Given the description of an element on the screen output the (x, y) to click on. 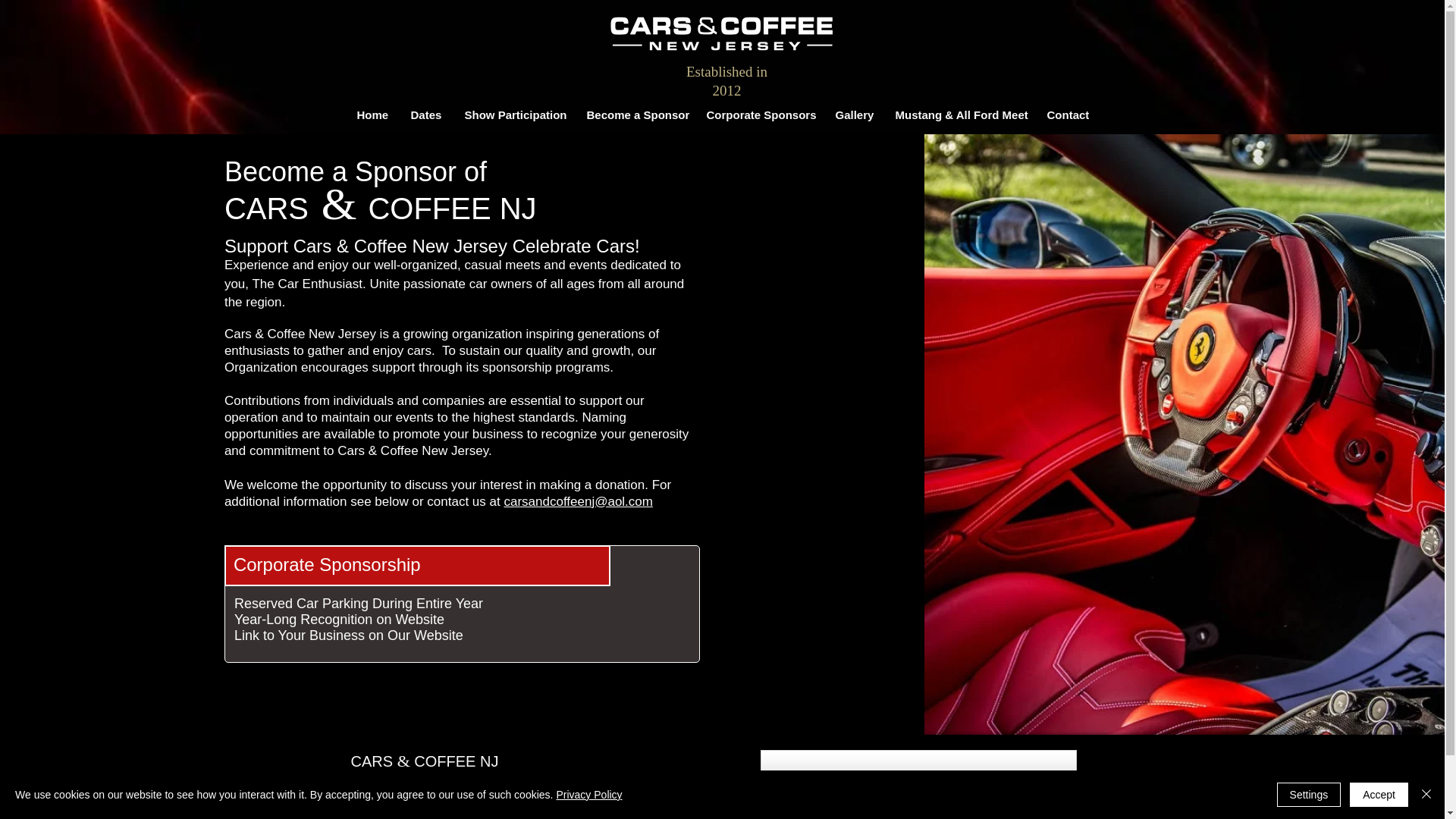
Dates (425, 115)
Privacy Policy (588, 794)
Become a Sponsor (634, 115)
Accept (1378, 794)
Home (372, 115)
Contact (1067, 115)
Show Participation (513, 115)
Settings (1308, 794)
Corporate Sponsors (759, 115)
